Given the description of an element on the screen output the (x, y) to click on. 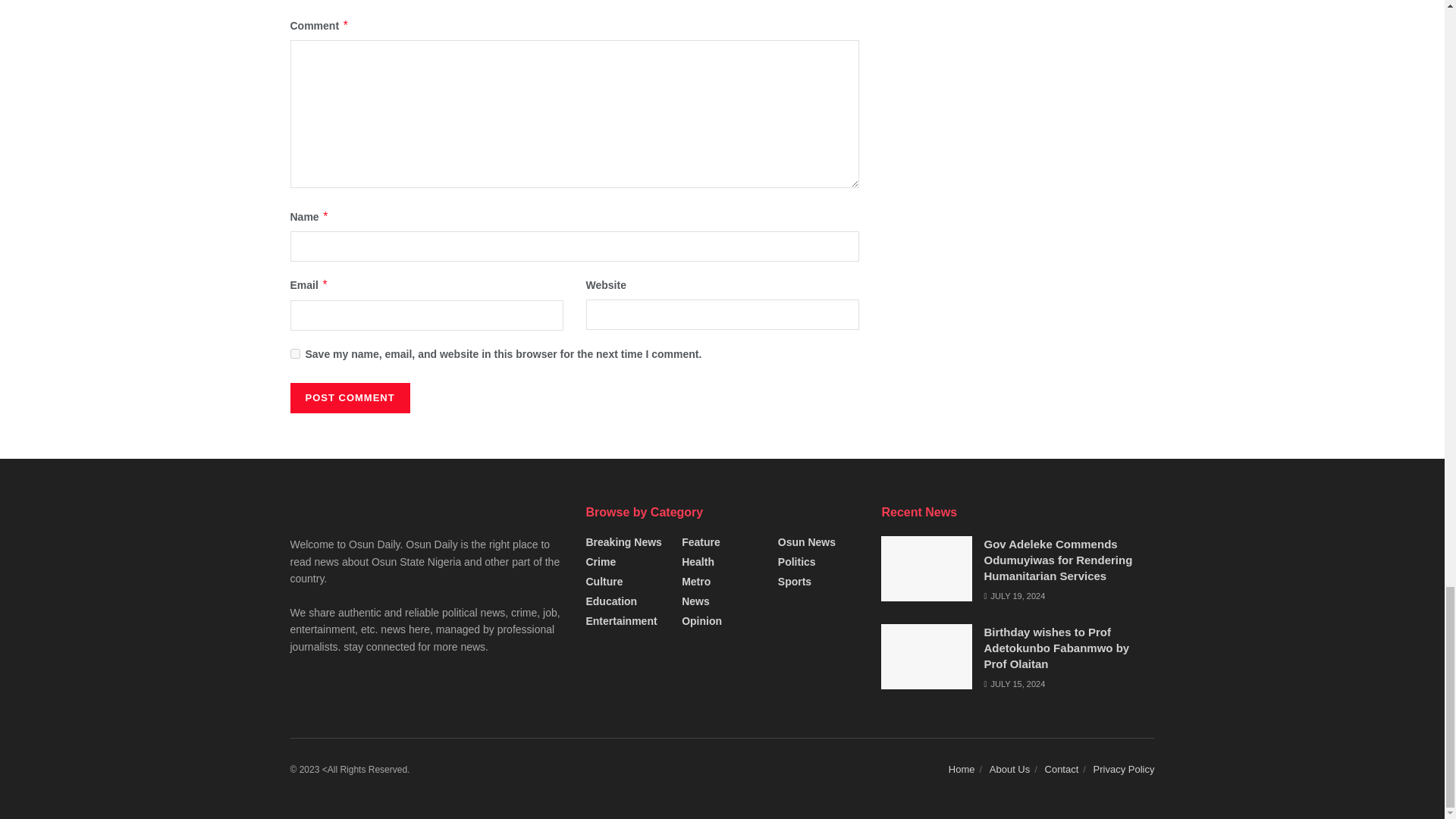
Post Comment (349, 398)
yes (294, 353)
